Given the description of an element on the screen output the (x, y) to click on. 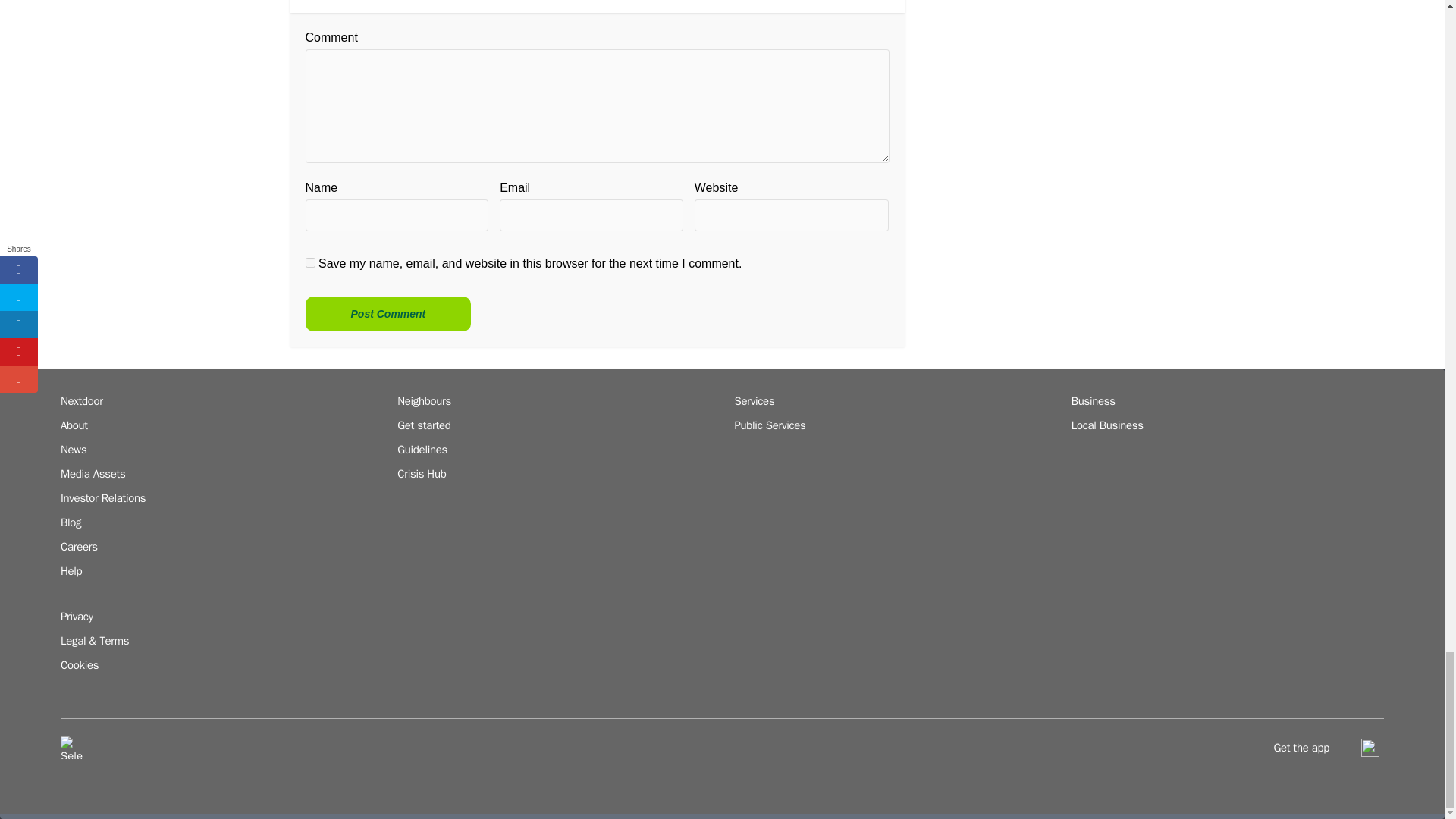
Post Comment (387, 313)
yes (309, 262)
Post Comment (387, 313)
